Given the description of an element on the screen output the (x, y) to click on. 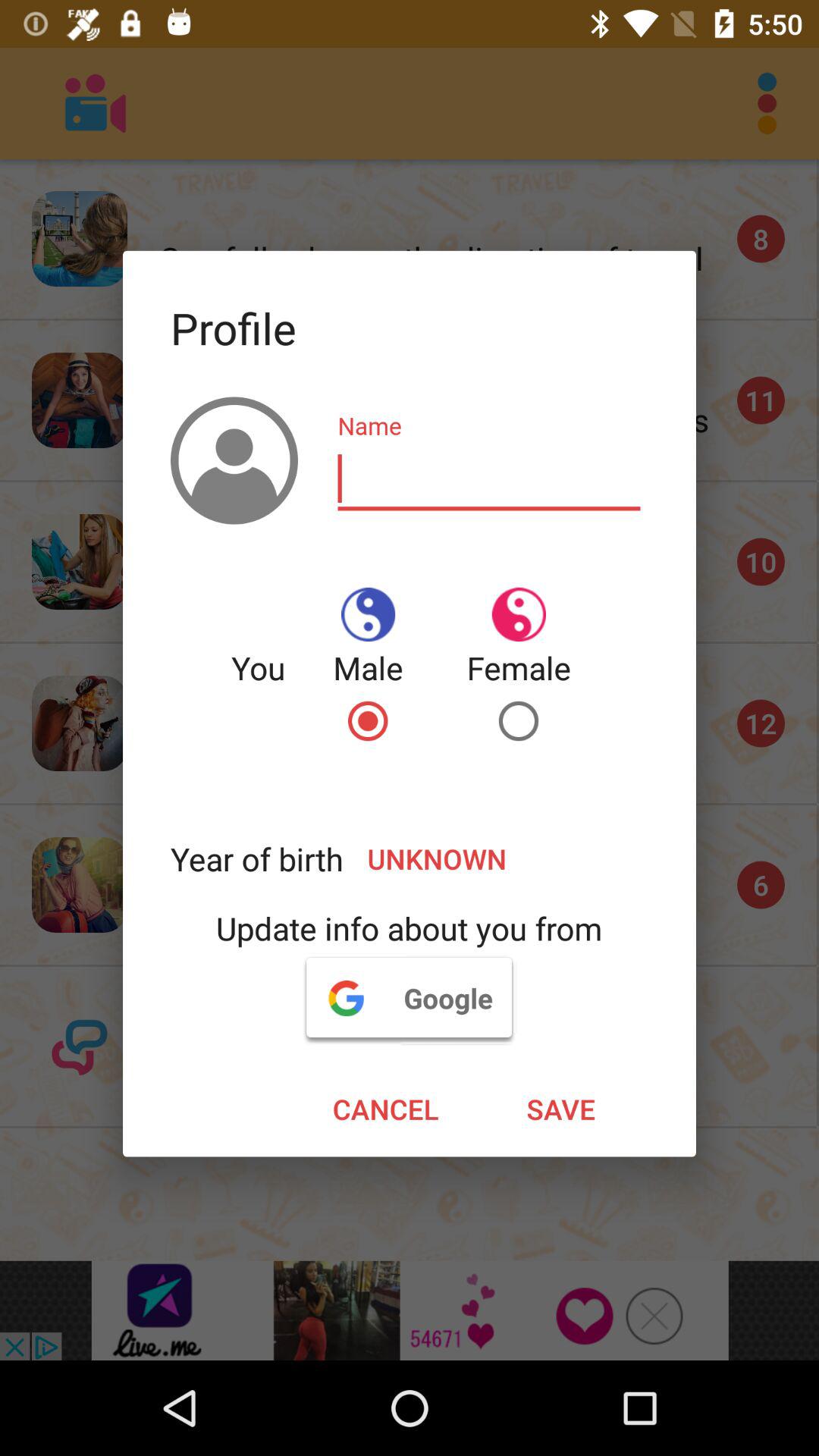
tap the item below google (385, 1108)
